Given the description of an element on the screen output the (x, y) to click on. 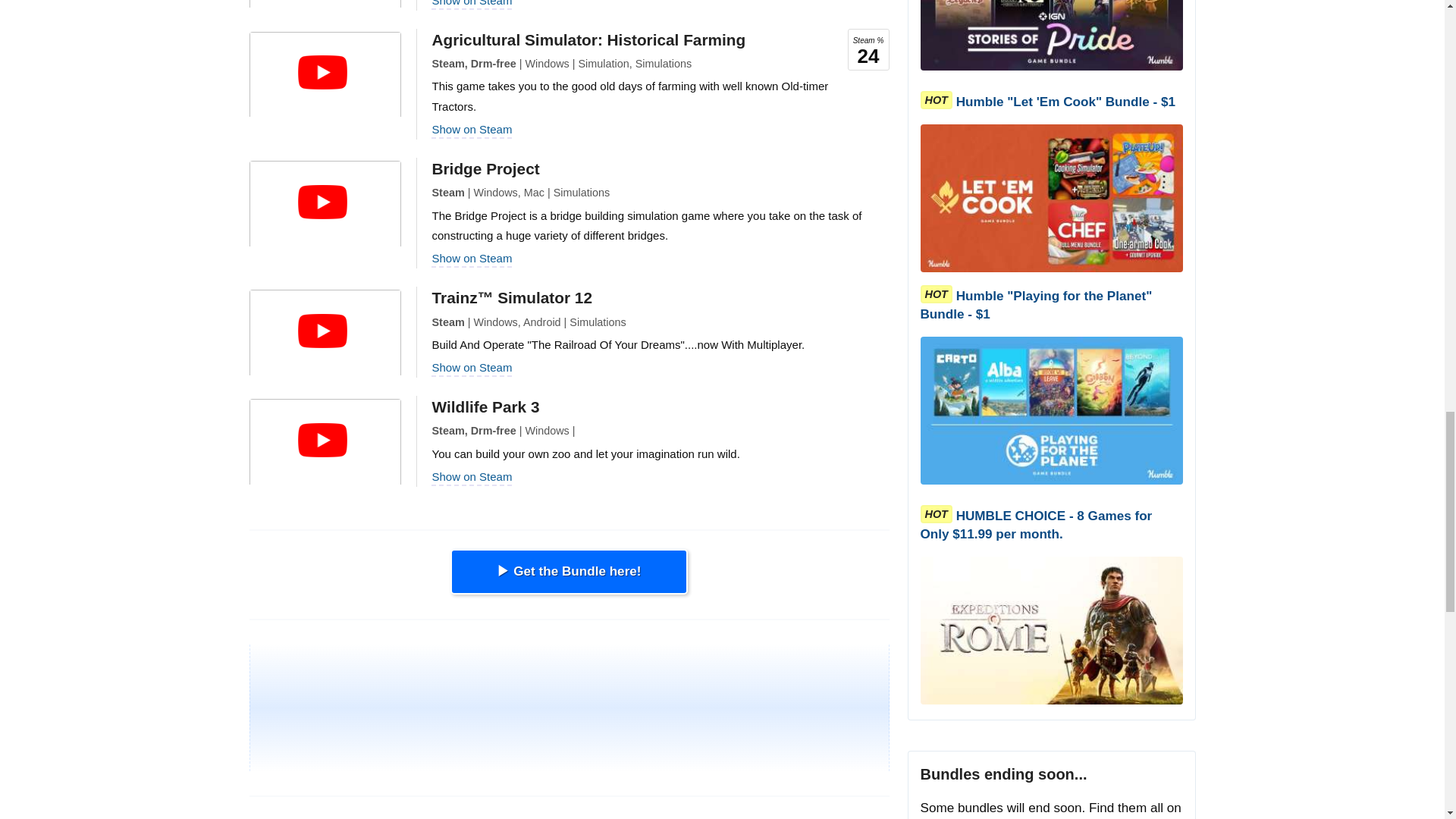
Show on Steam (472, 128)
Show on Steam (472, 3)
Show on Steam (472, 257)
Buy Weekly - Simulators Bundle from Humble Bundle here. (568, 571)
